Given the description of an element on the screen output the (x, y) to click on. 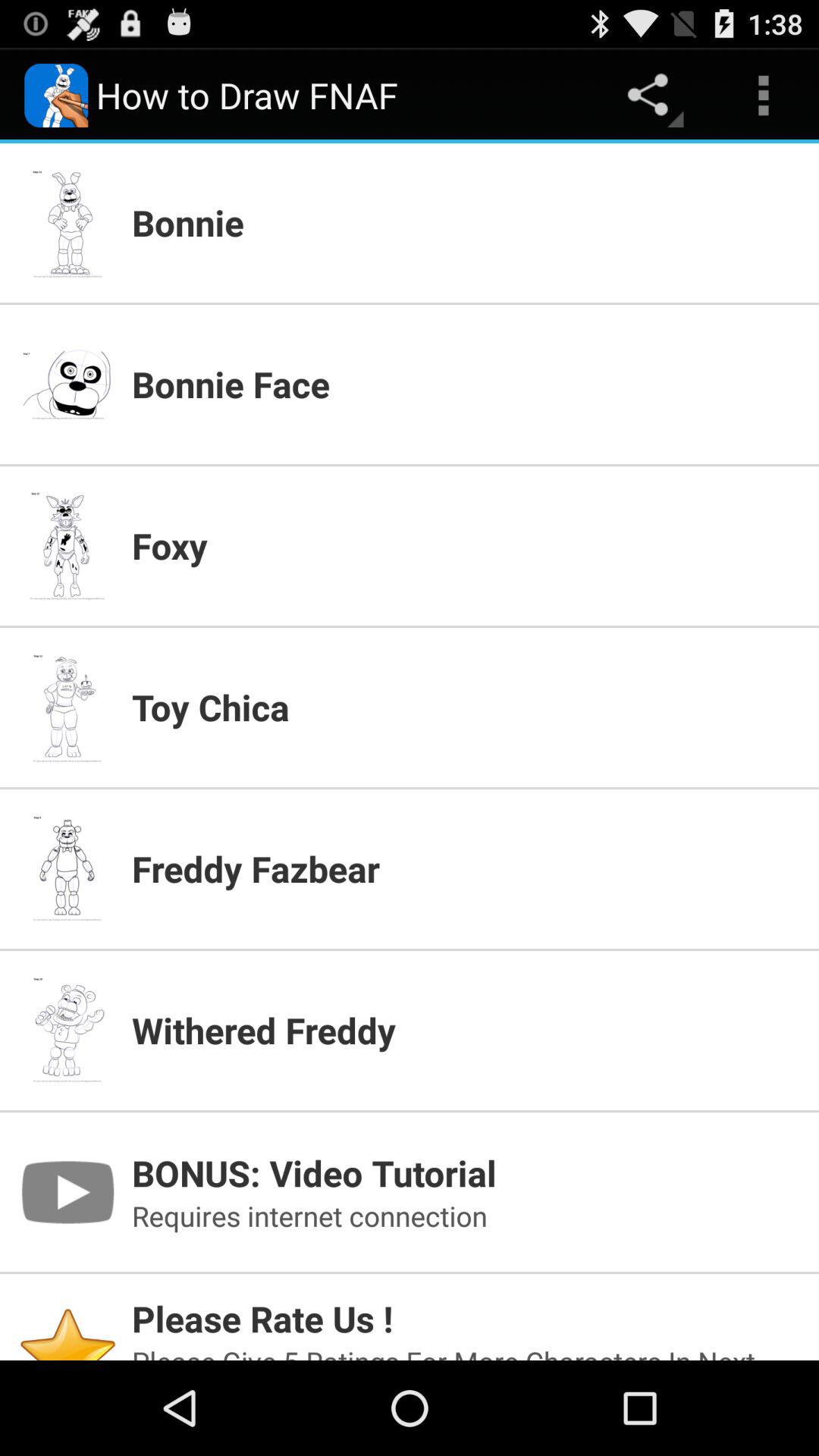
click freddy fazbear app (465, 868)
